Given the description of an element on the screen output the (x, y) to click on. 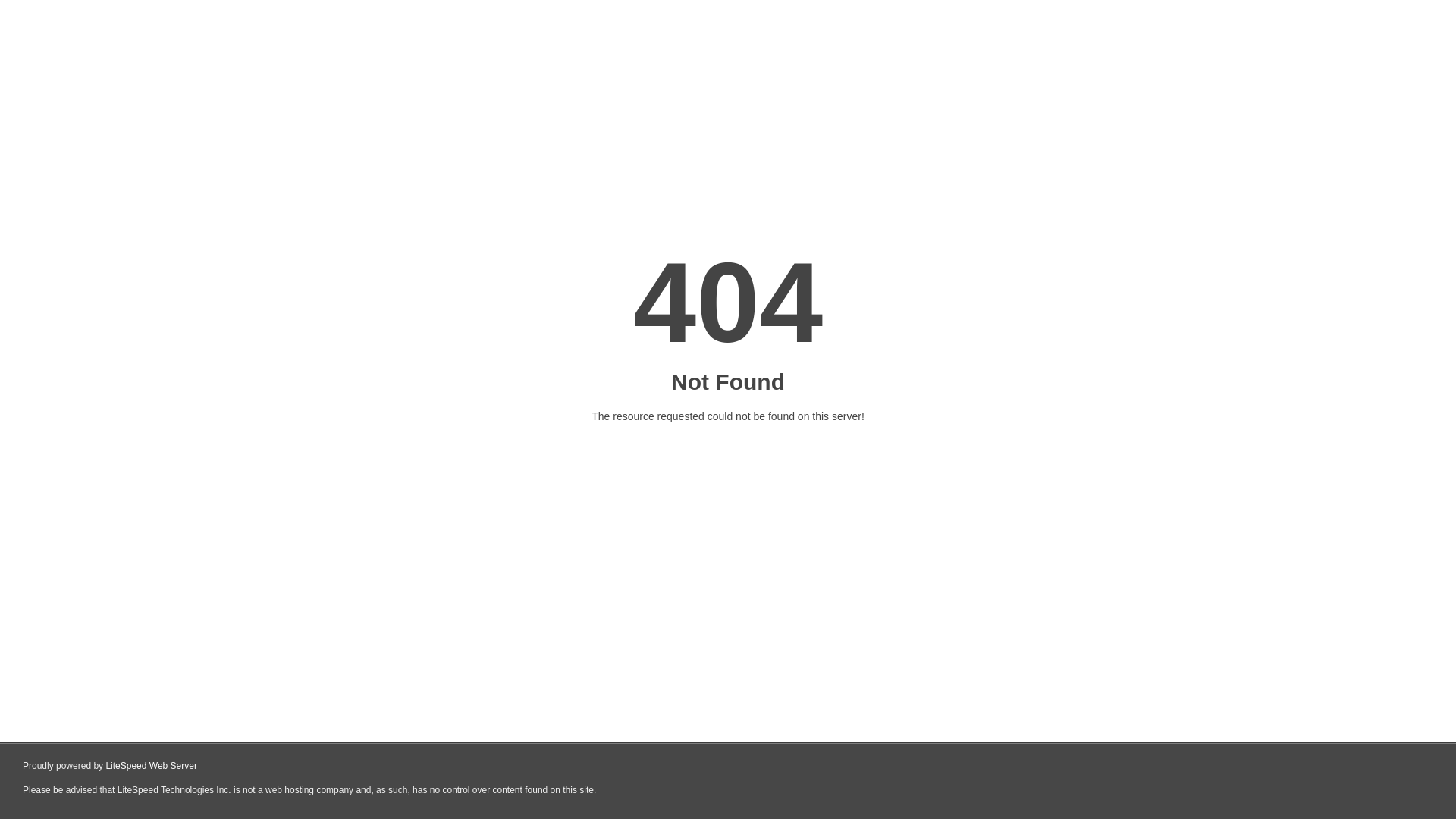
LiteSpeed Web Server Element type: text (151, 765)
